Given the description of an element on the screen output the (x, y) to click on. 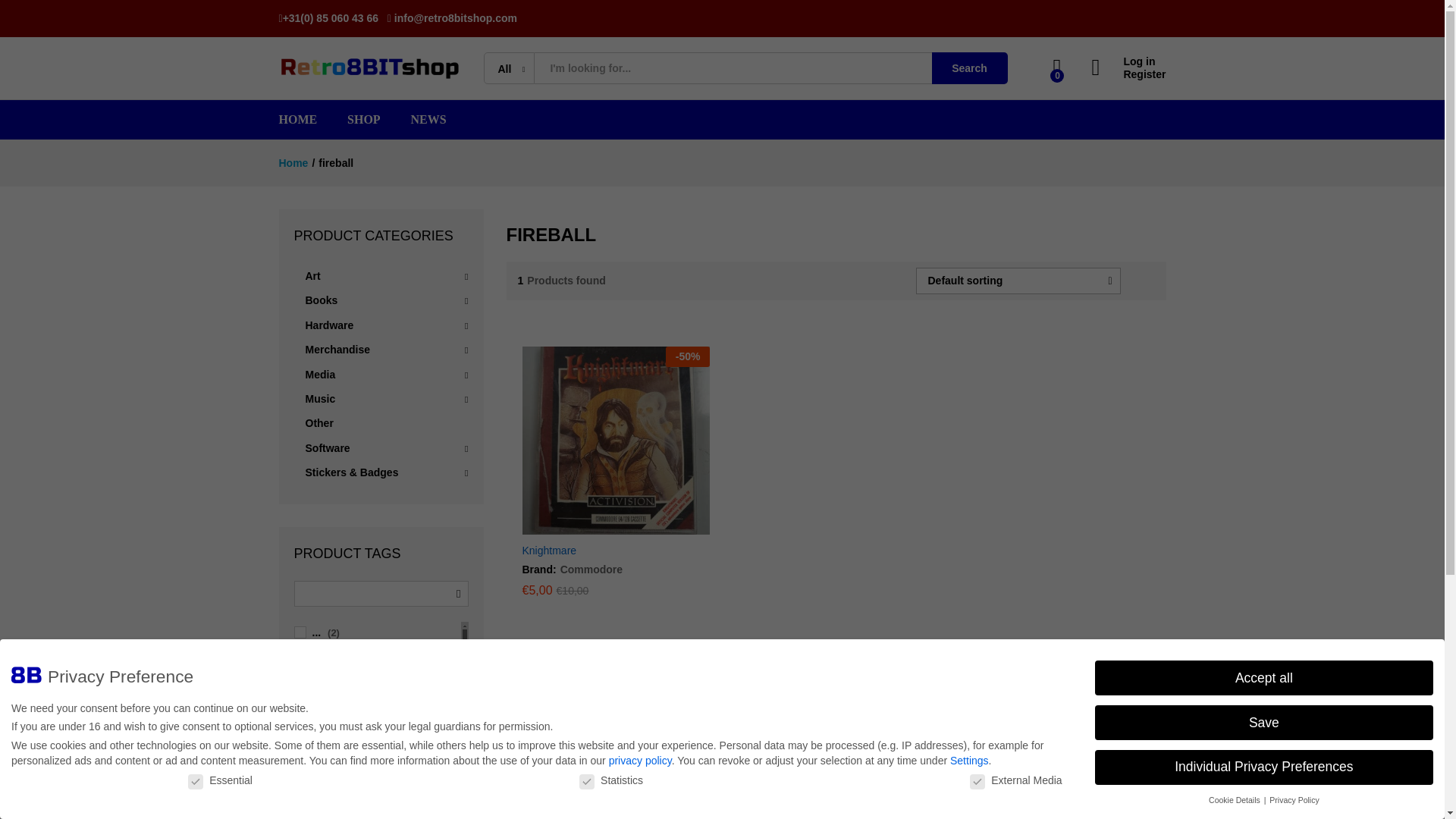
Sort by average rating (1073, 375)
Search (969, 68)
Knightmare (548, 550)
Commodore (589, 569)
Log in (1128, 61)
Sort by latest (1050, 375)
SHOP (363, 119)
Art (312, 275)
HOME (298, 119)
Register (1128, 74)
NEWS (428, 119)
Sort by popularity (1062, 375)
fireball (335, 162)
Home (293, 162)
Default sorting (1055, 375)
